Given the description of an element on the screen output the (x, y) to click on. 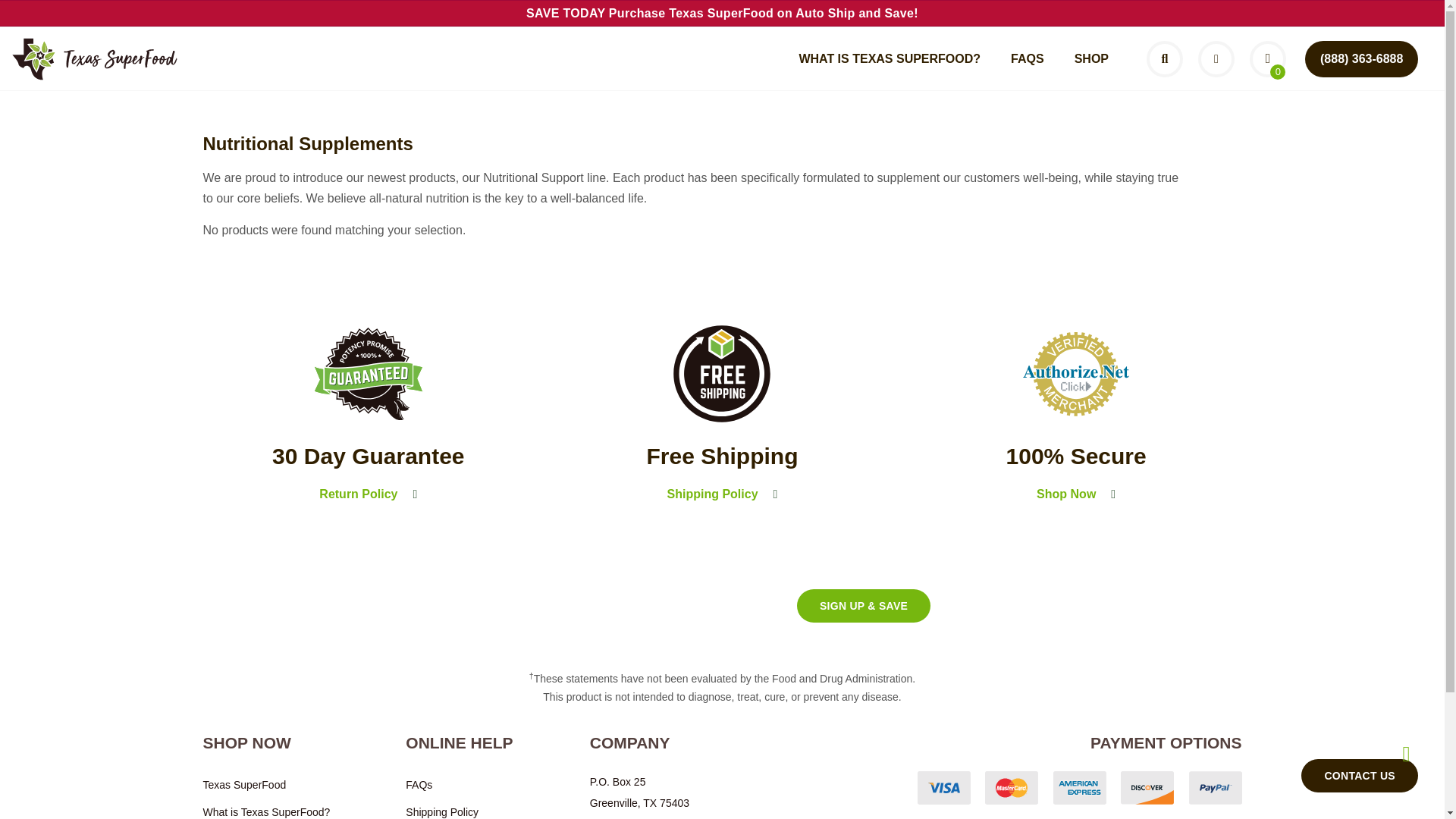
WHAT IS TEXAS SUPERFOOD? (889, 59)
0 (1267, 58)
Return Policy (368, 494)
What is Texas SuperFood? (266, 808)
Texas SuperFood (266, 784)
SHOP (1091, 59)
FAQs (459, 784)
Shop Now (1076, 494)
Shipping Policy (459, 808)
View your shopping cart (1267, 58)
CONTACT US (1359, 775)
Shipping Policy (722, 494)
FAQS (1027, 59)
